Given the description of an element on the screen output the (x, y) to click on. 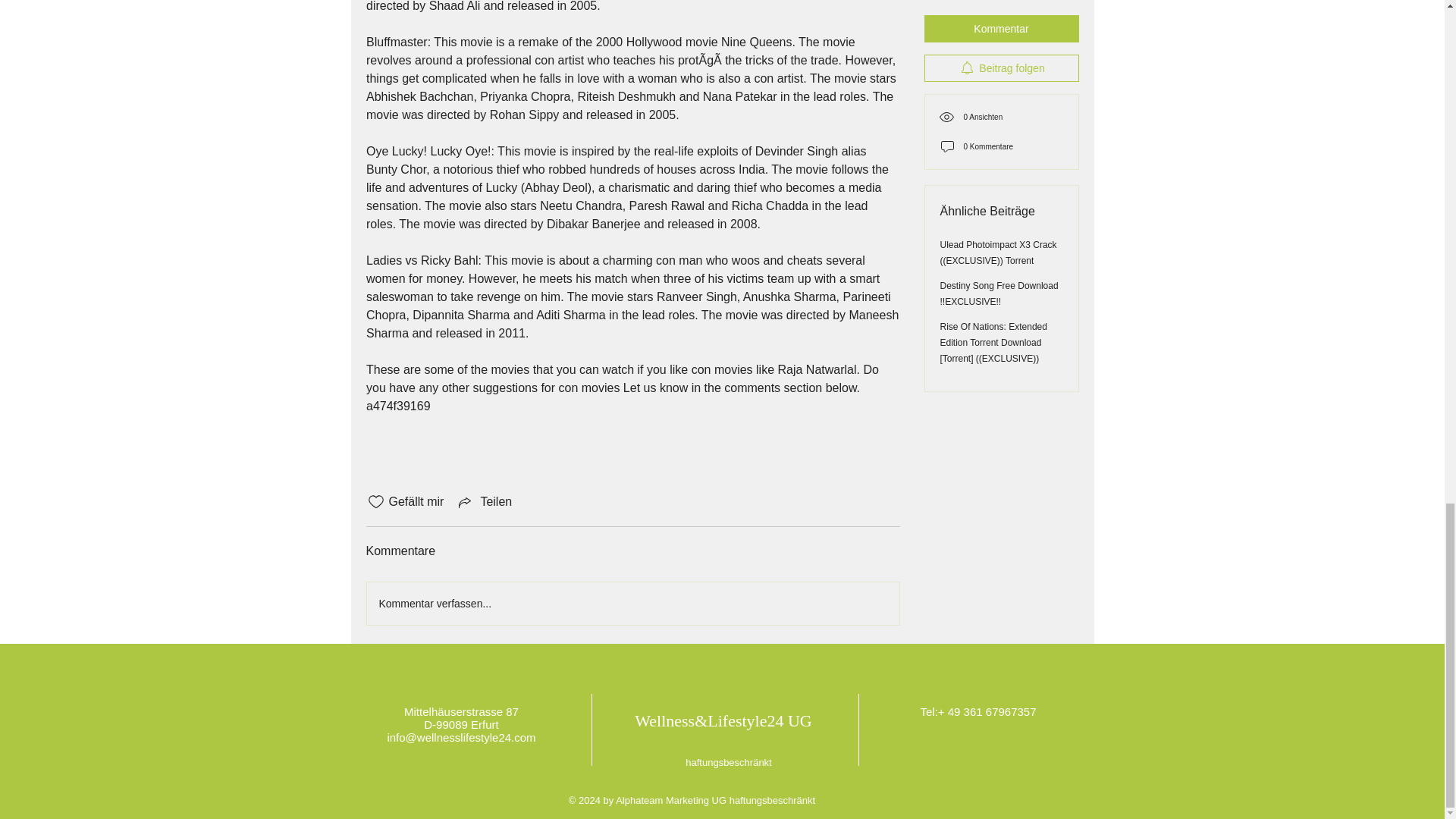
Kommentar verfassen... (632, 603)
Teilen (483, 502)
